Given the description of an element on the screen output the (x, y) to click on. 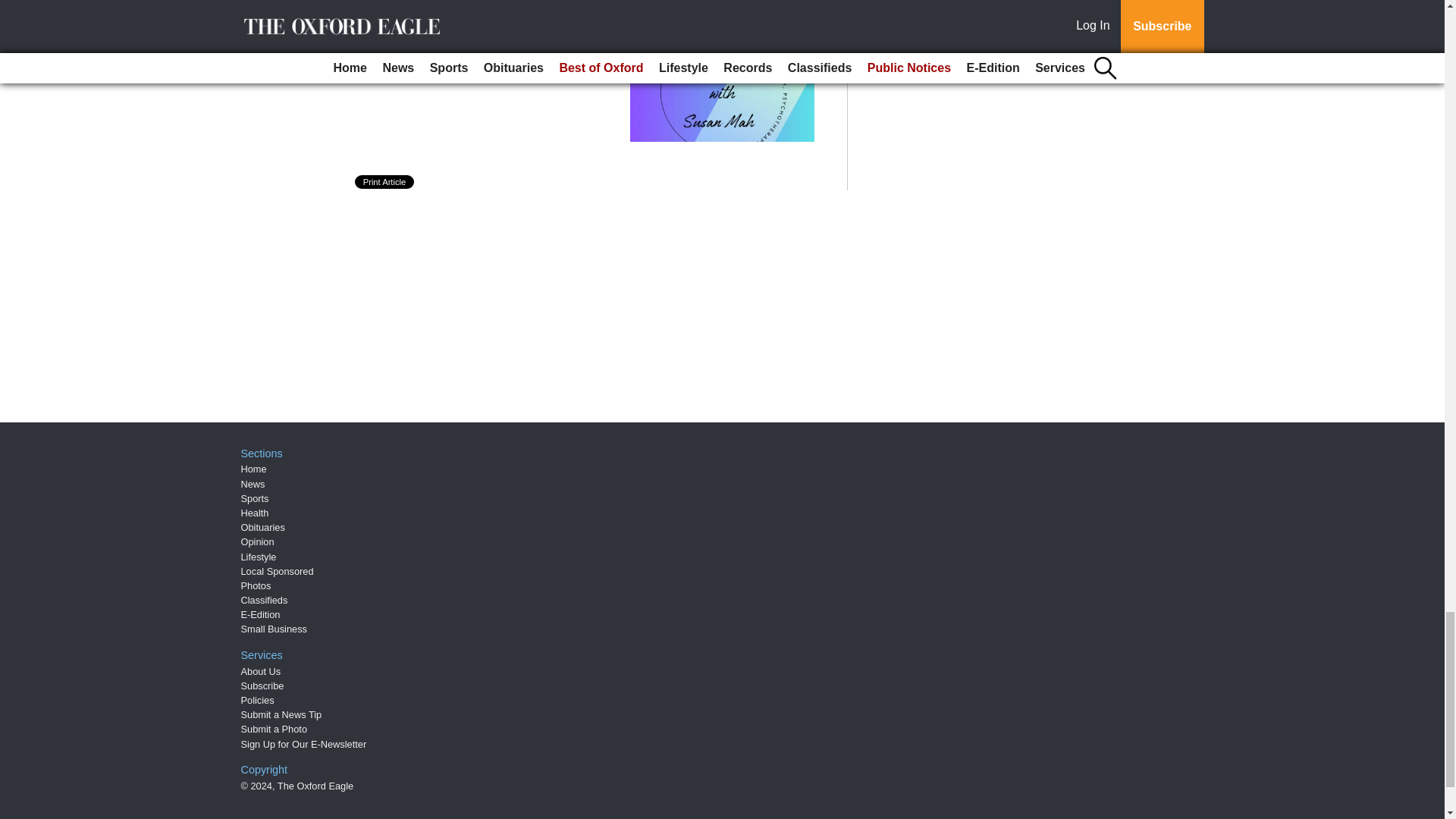
Print Article (384, 182)
